Given the description of an element on the screen output the (x, y) to click on. 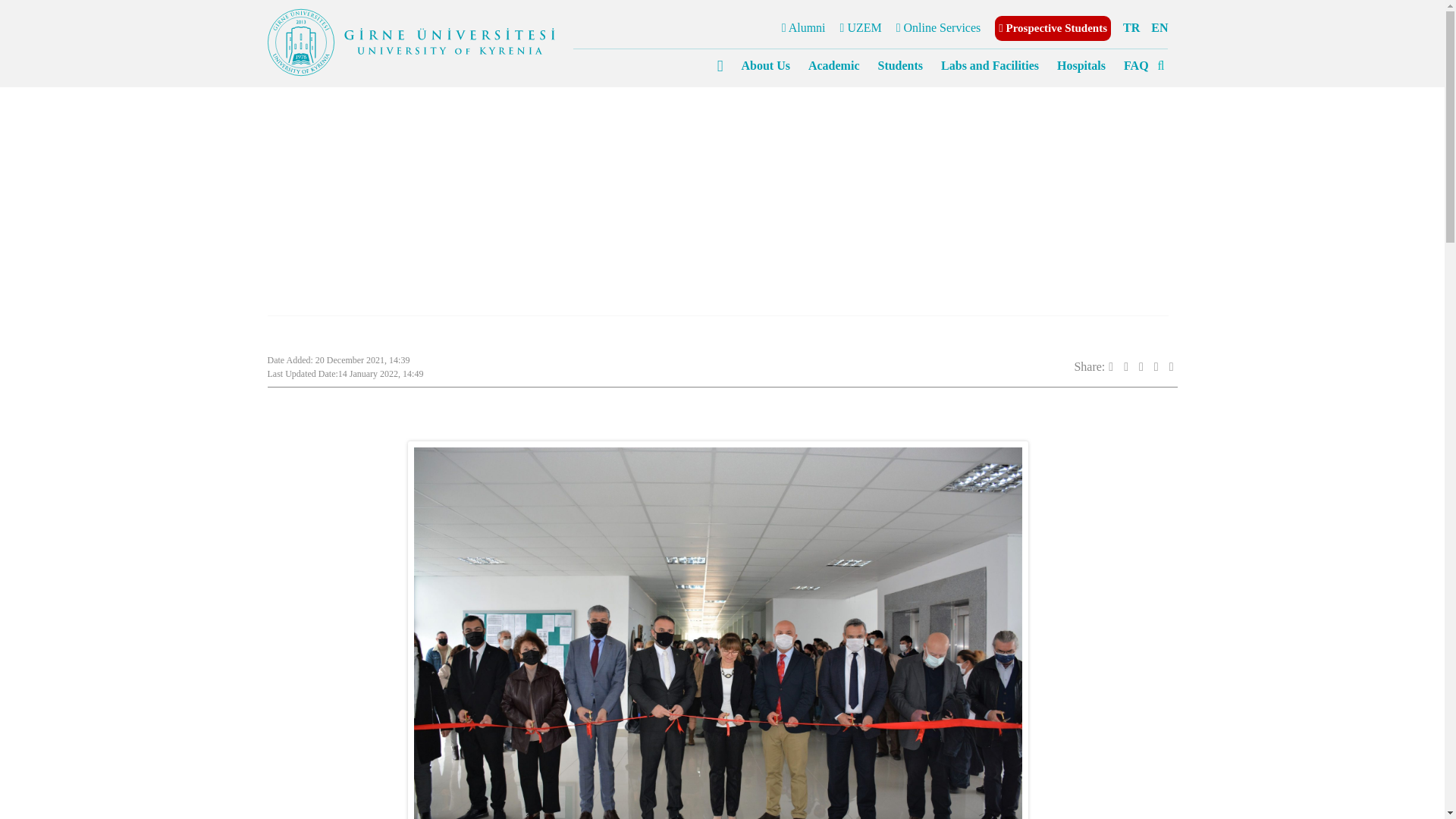
TR (1131, 27)
EN (1159, 27)
